Given the description of an element on the screen output the (x, y) to click on. 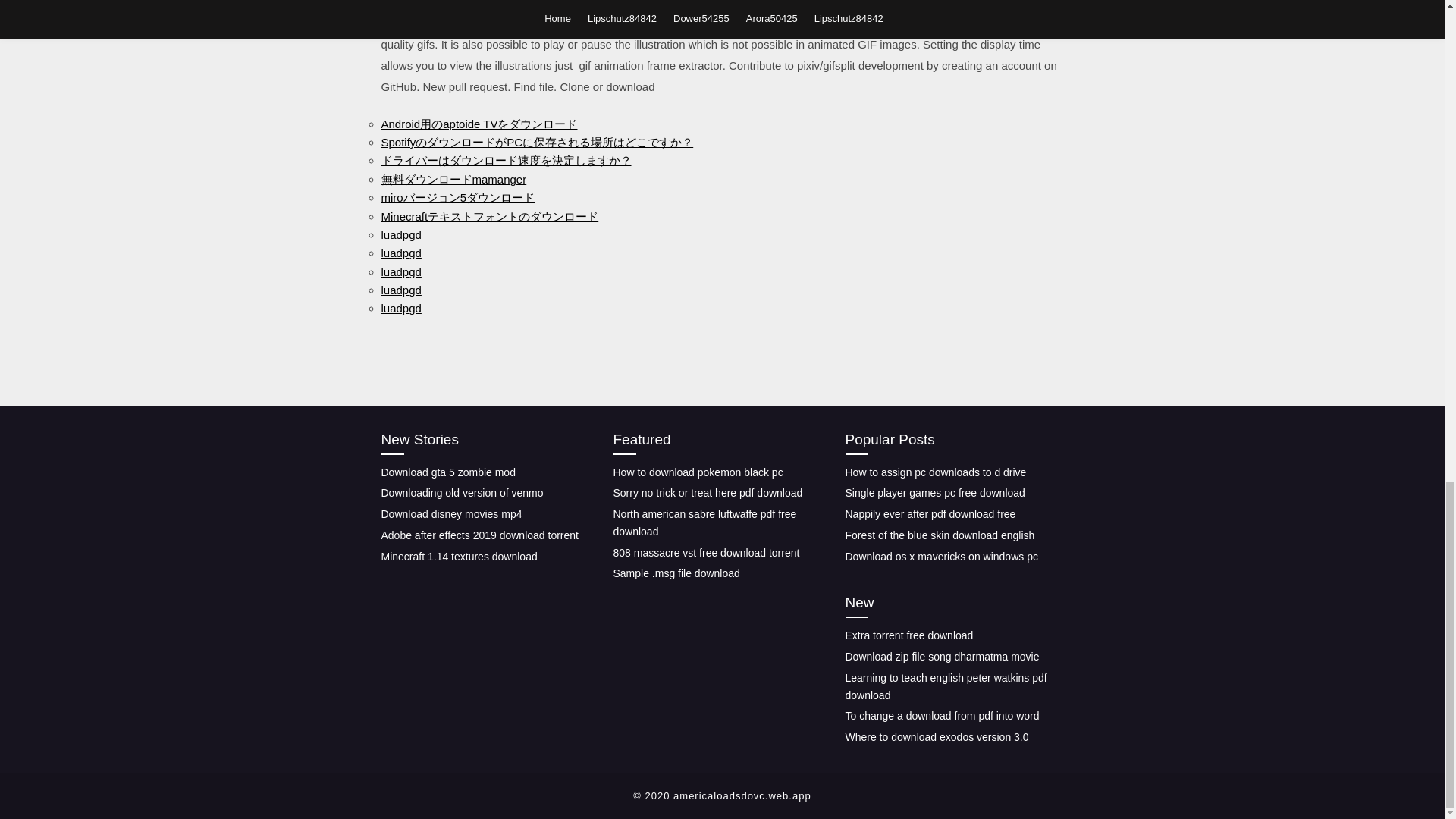
How to assign pc downloads to d drive (935, 472)
Minecraft 1.14 textures download (458, 556)
Downloading old version of venmo (461, 492)
luadpgd (400, 234)
luadpgd (400, 289)
Forest of the blue skin download english (938, 535)
Learning to teach english peter watkins pdf download (945, 686)
Sorry no trick or treat here pdf download (707, 492)
808 massacre vst free download torrent (705, 552)
luadpgd (400, 271)
